Given the description of an element on the screen output the (x, y) to click on. 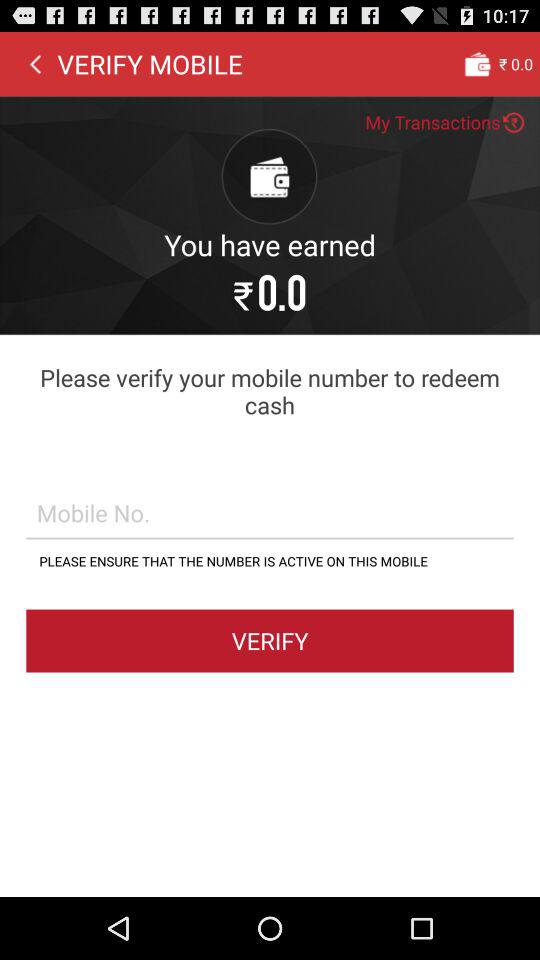
enter your mobile number (269, 512)
